Given the description of an element on the screen output the (x, y) to click on. 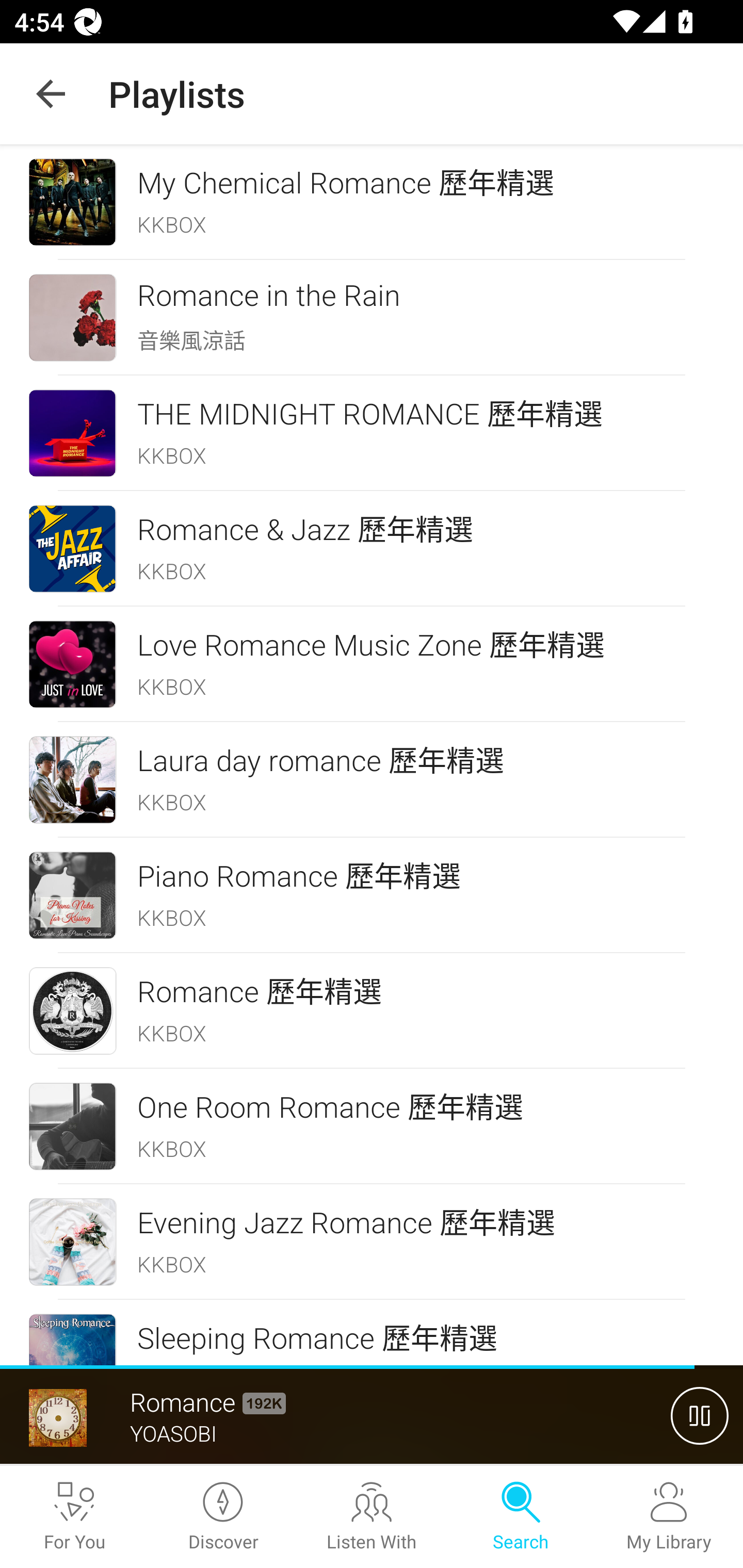
Navigate up (50, 93)
My Chemical Romance 歷年精選 KKBOX (371, 202)
Romance in the Rain 音樂風涼話 (371, 317)
THE MIDNIGHT ROMANCE 歷年精選 KKBOX (371, 432)
Romance & Jazz 歷年精選 KKBOX (371, 548)
Love Romance Music Zone 歷年精選 KKBOX (371, 664)
Laura day romance 歷年精選 KKBOX (371, 779)
Piano Romance 歷年精選 KKBOX (371, 895)
Romance 歷年精選 KKBOX (371, 1011)
One Room Romance 歷年精選 KKBOX (371, 1126)
Evening Jazz Romance 歷年精選 KKBOX (371, 1241)
Sleeping Romance 歷年精選 KKBOX (371, 1332)
暫停播放 (699, 1415)
For You (74, 1517)
Discover (222, 1517)
Listen With (371, 1517)
Search (519, 1517)
My Library (668, 1517)
